Given the description of an element on the screen output the (x, y) to click on. 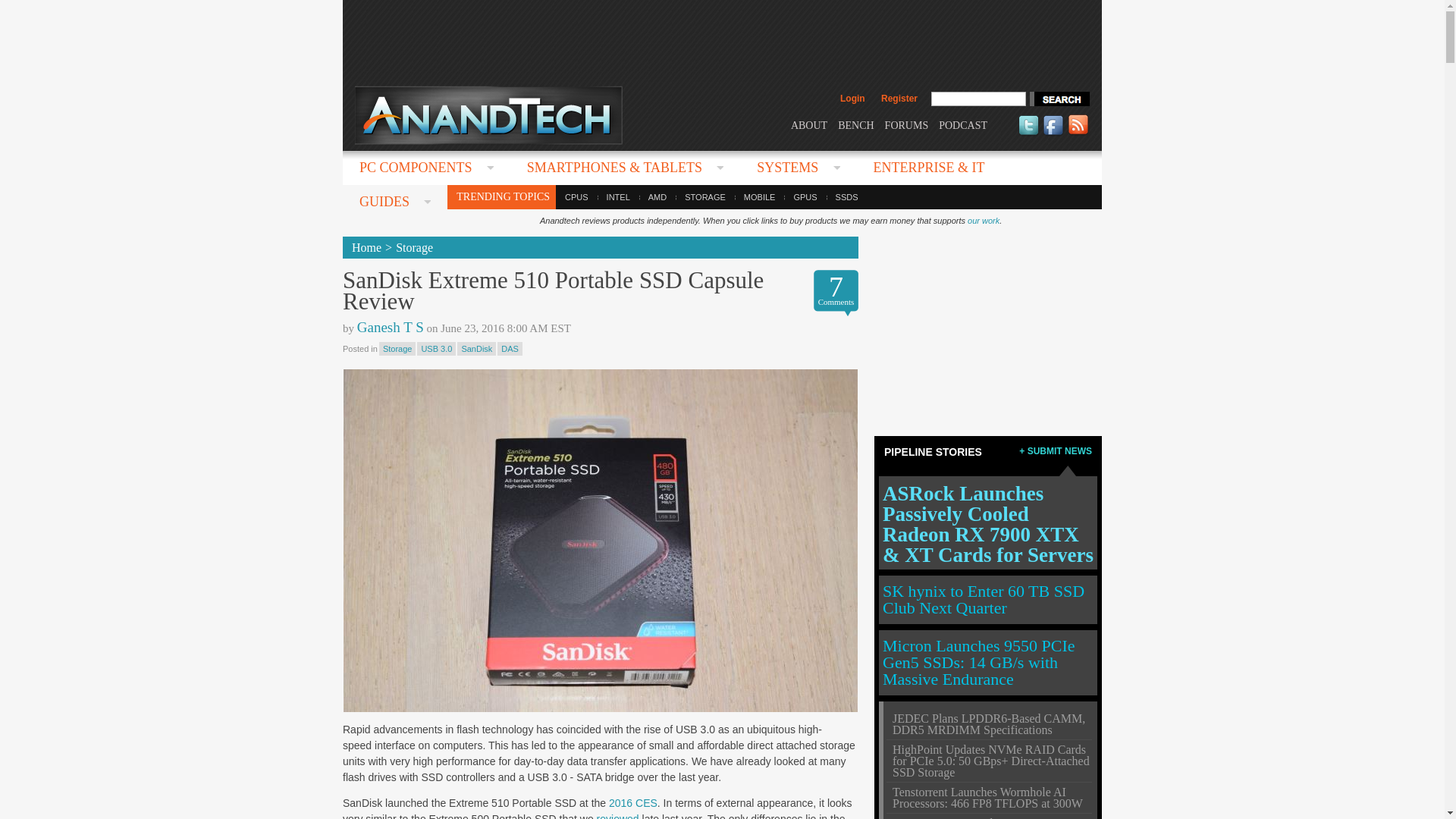
FORUMS (906, 125)
PODCAST (963, 125)
search (1059, 98)
Register (898, 98)
search (1059, 98)
Login (852, 98)
ABOUT (808, 125)
search (1059, 98)
BENCH (855, 125)
